Given the description of an element on the screen output the (x, y) to click on. 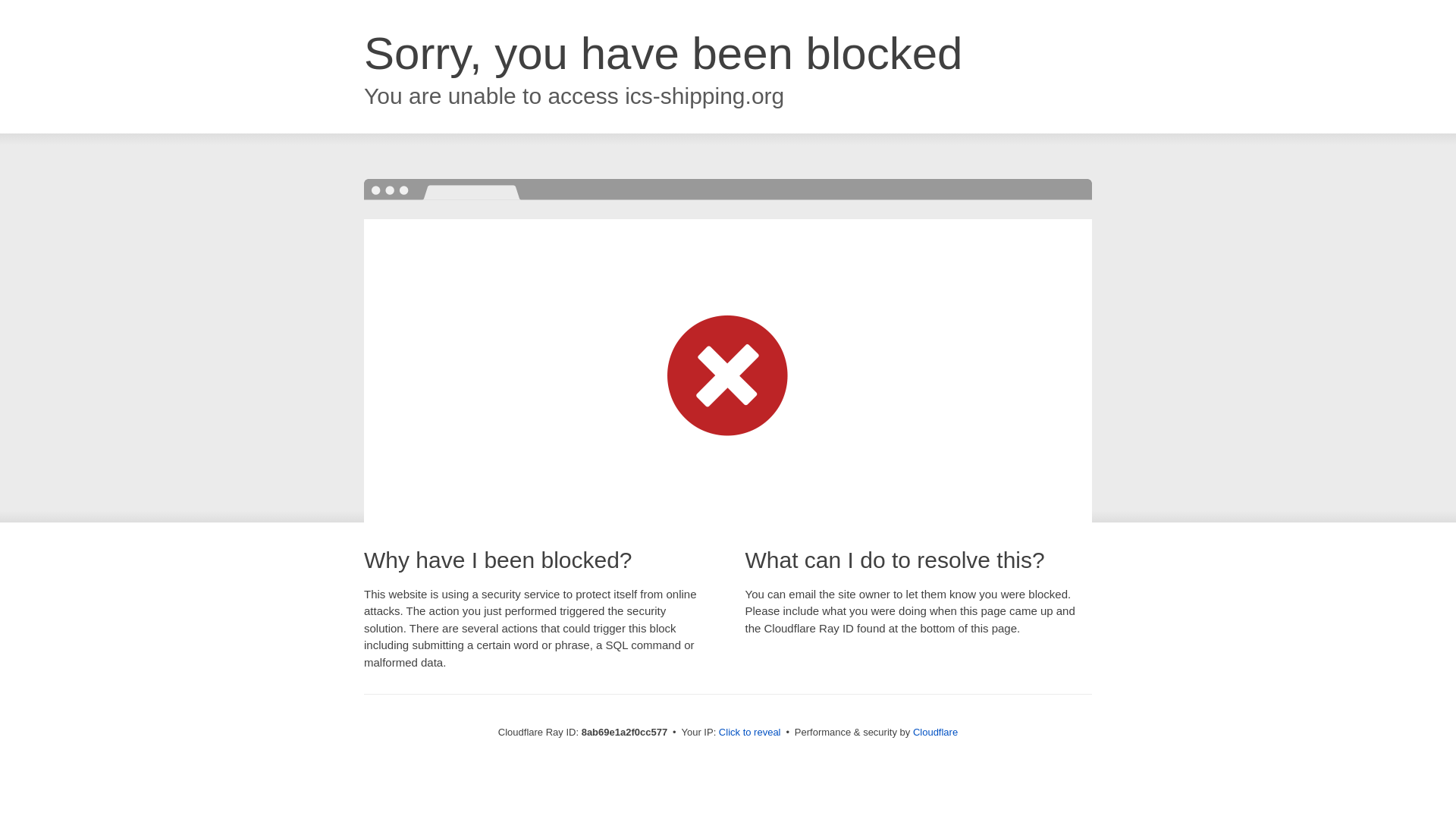
Click to reveal (749, 732)
Cloudflare (935, 731)
